Given the description of an element on the screen output the (x, y) to click on. 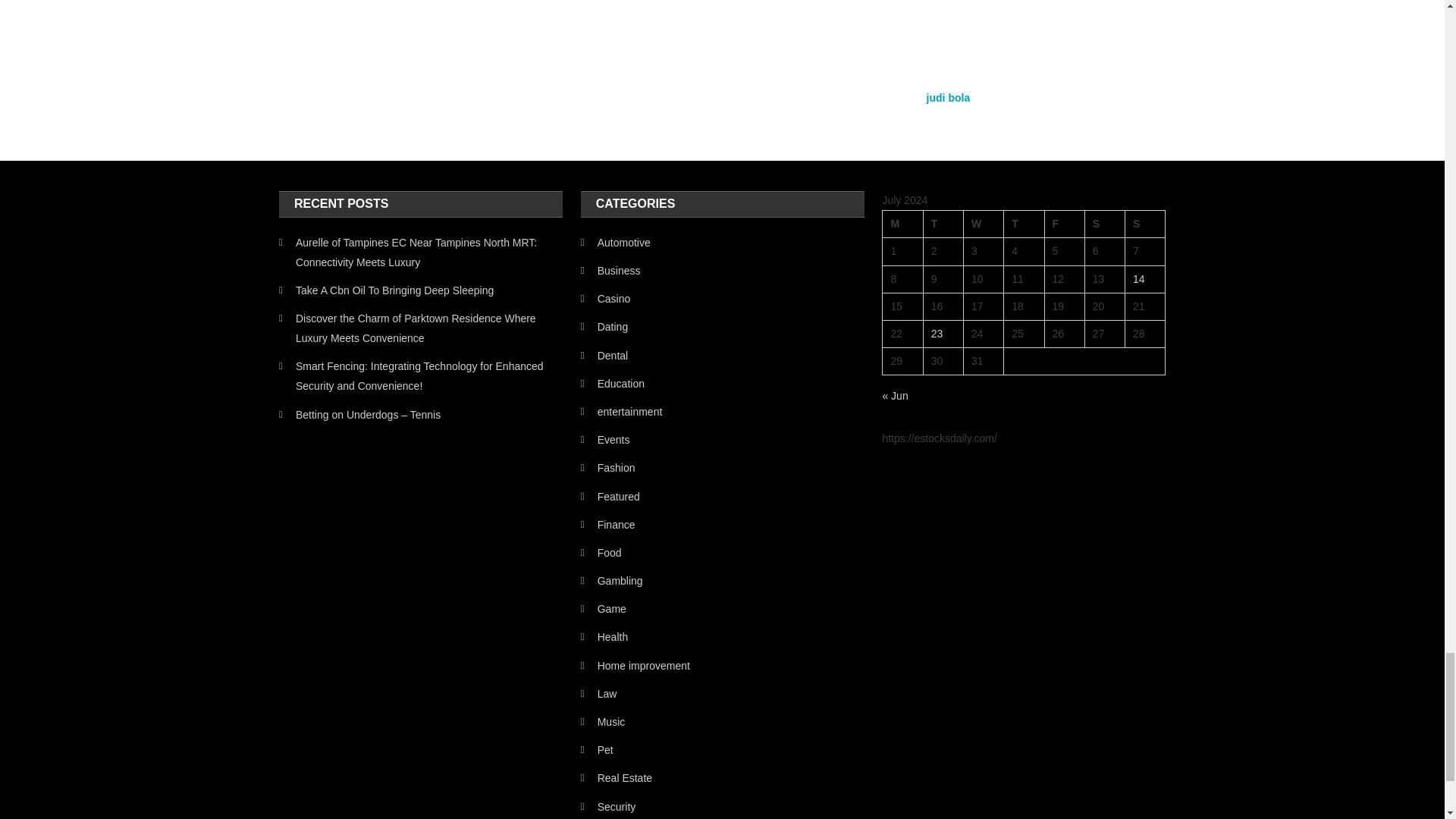
Thursday (1023, 224)
Monday (902, 224)
Wednesday (982, 224)
Friday (1063, 224)
Sunday (1145, 224)
Saturday (1104, 224)
Tuesday (942, 224)
